Given the description of an element on the screen output the (x, y) to click on. 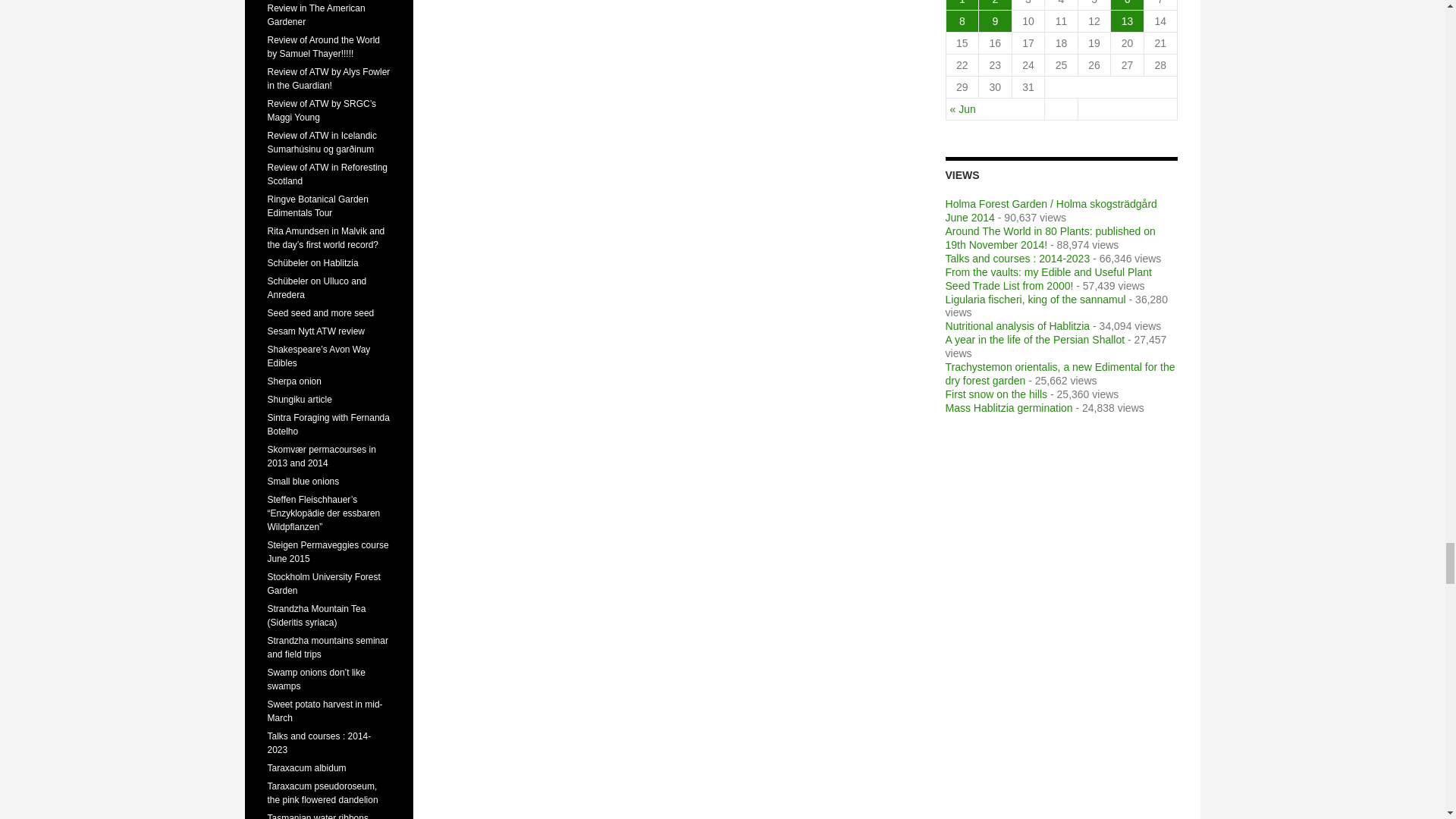
Talks and courses : 2014-2023 (1017, 258)
Nutritional analysis of Hablitzia (1017, 326)
Ligularia fischeri, king of the sannamul (1034, 298)
